Given the description of an element on the screen output the (x, y) to click on. 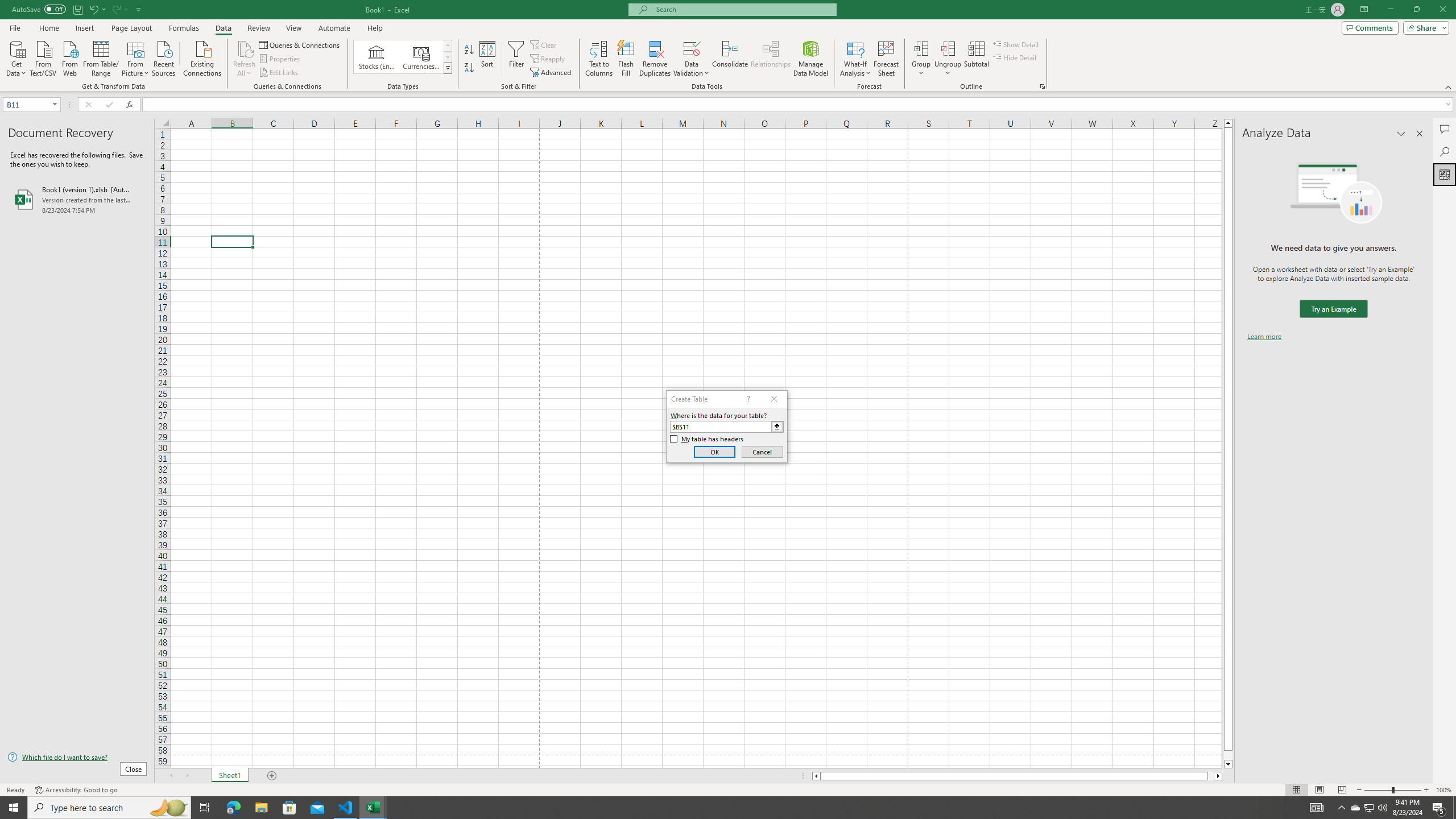
Consolidate... (729, 58)
